Given the description of an element on the screen output the (x, y) to click on. 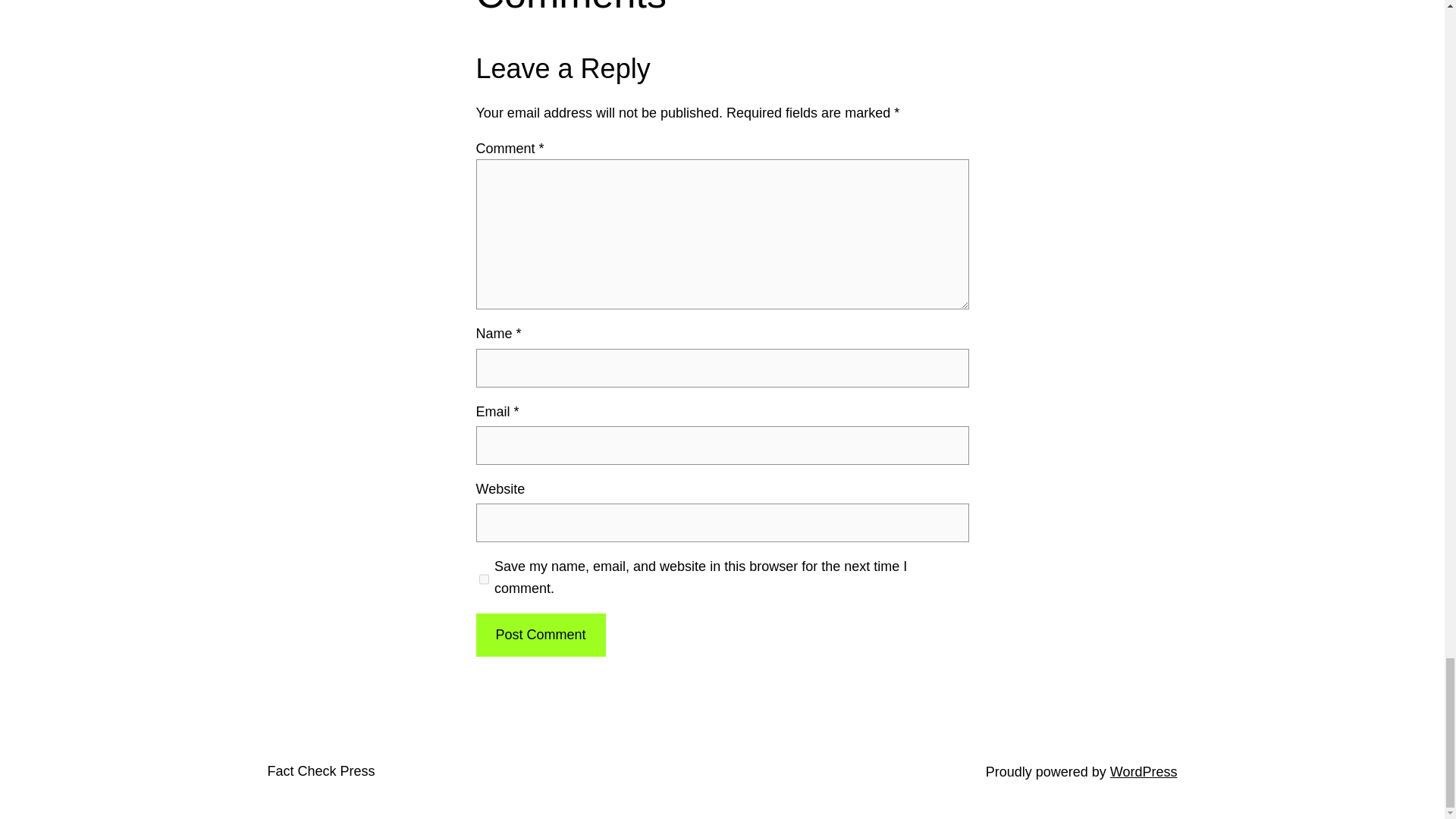
Post Comment (540, 634)
Fact Check Press (320, 770)
Post Comment (540, 634)
WordPress (1143, 771)
